Given the description of an element on the screen output the (x, y) to click on. 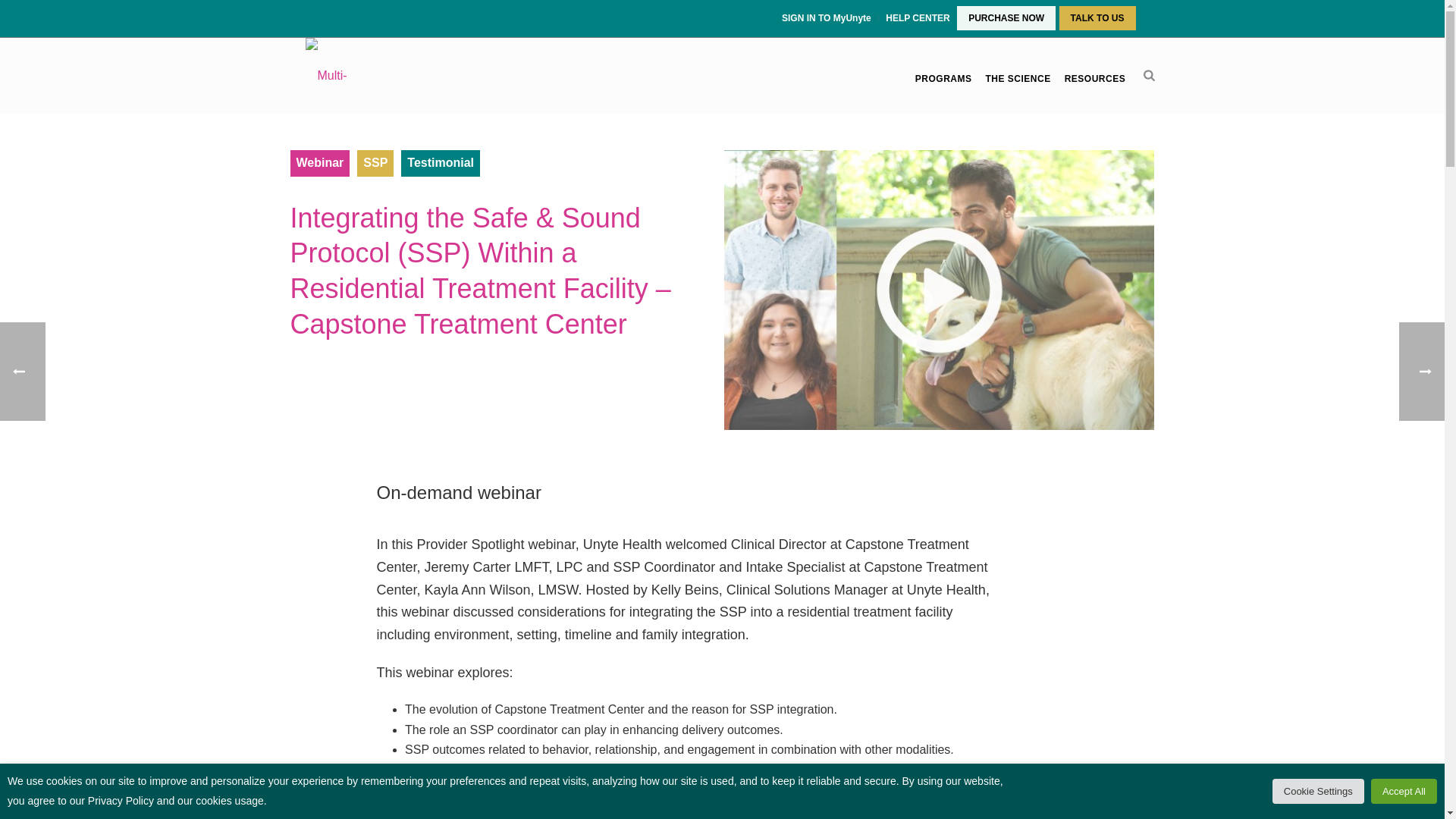
PROGRAMS (943, 79)
SIGN IN TO MyUnyte (828, 18)
TALK TO US (1097, 17)
RESOURCES (1095, 79)
THE SCIENCE (1017, 79)
PROGRAMS (943, 79)
PURCHASE NOW (1005, 17)
HELP CENTER (917, 18)
